Given the description of an element on the screen output the (x, y) to click on. 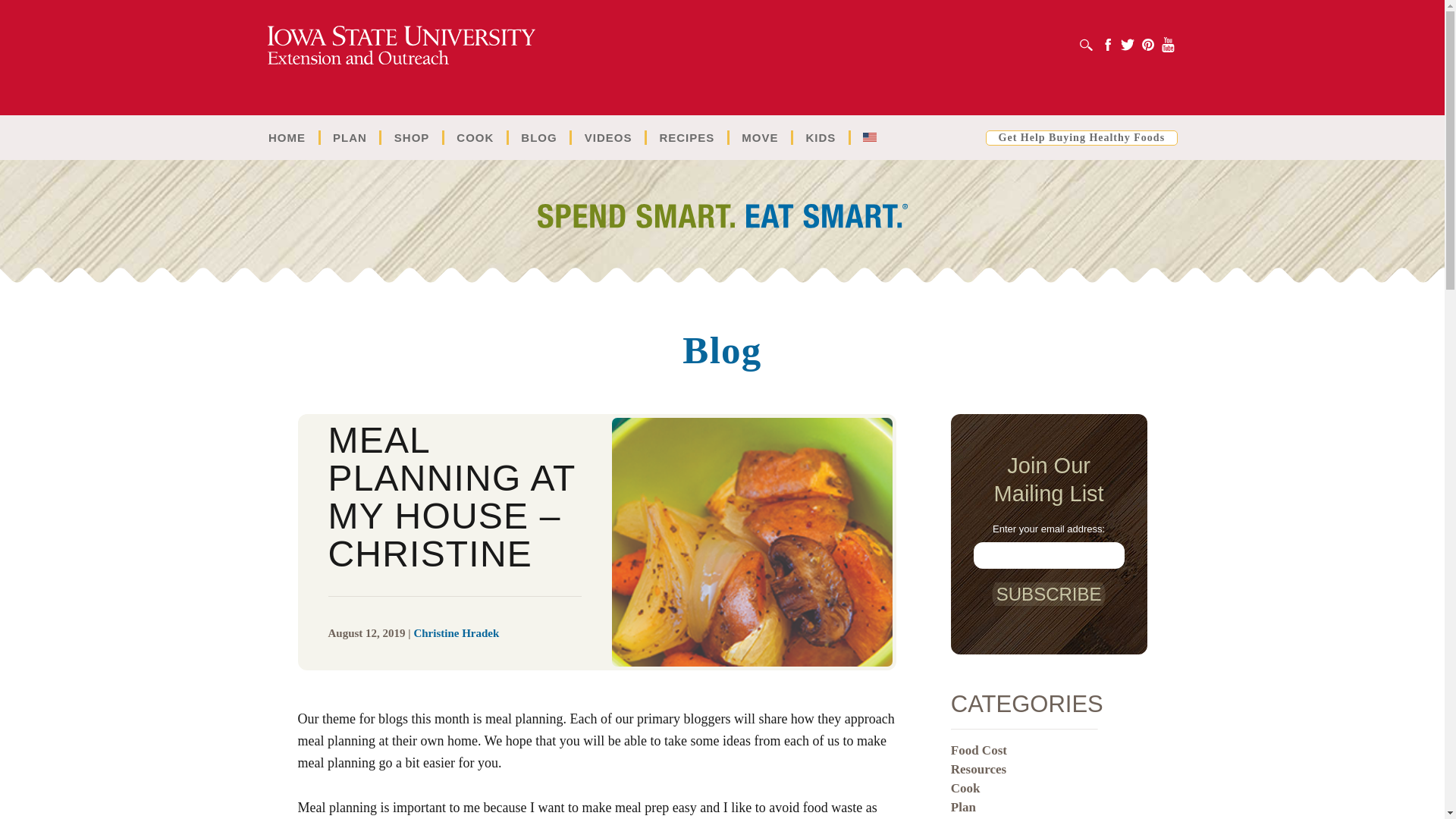
VIDEOS (608, 137)
RECIPES (686, 137)
PLAN (349, 137)
Twitter (1128, 45)
Follow us on Youtube (1167, 45)
COOK (475, 137)
Facebook (1107, 45)
MOVE (759, 137)
HOME (287, 137)
BLOG (538, 137)
Follow us on Pinterest (1147, 45)
Pinterest (1147, 45)
Like us on Facebook (1107, 45)
KIDS (820, 137)
OPEN SEARCH BOX (1086, 44)
